Given the description of an element on the screen output the (x, y) to click on. 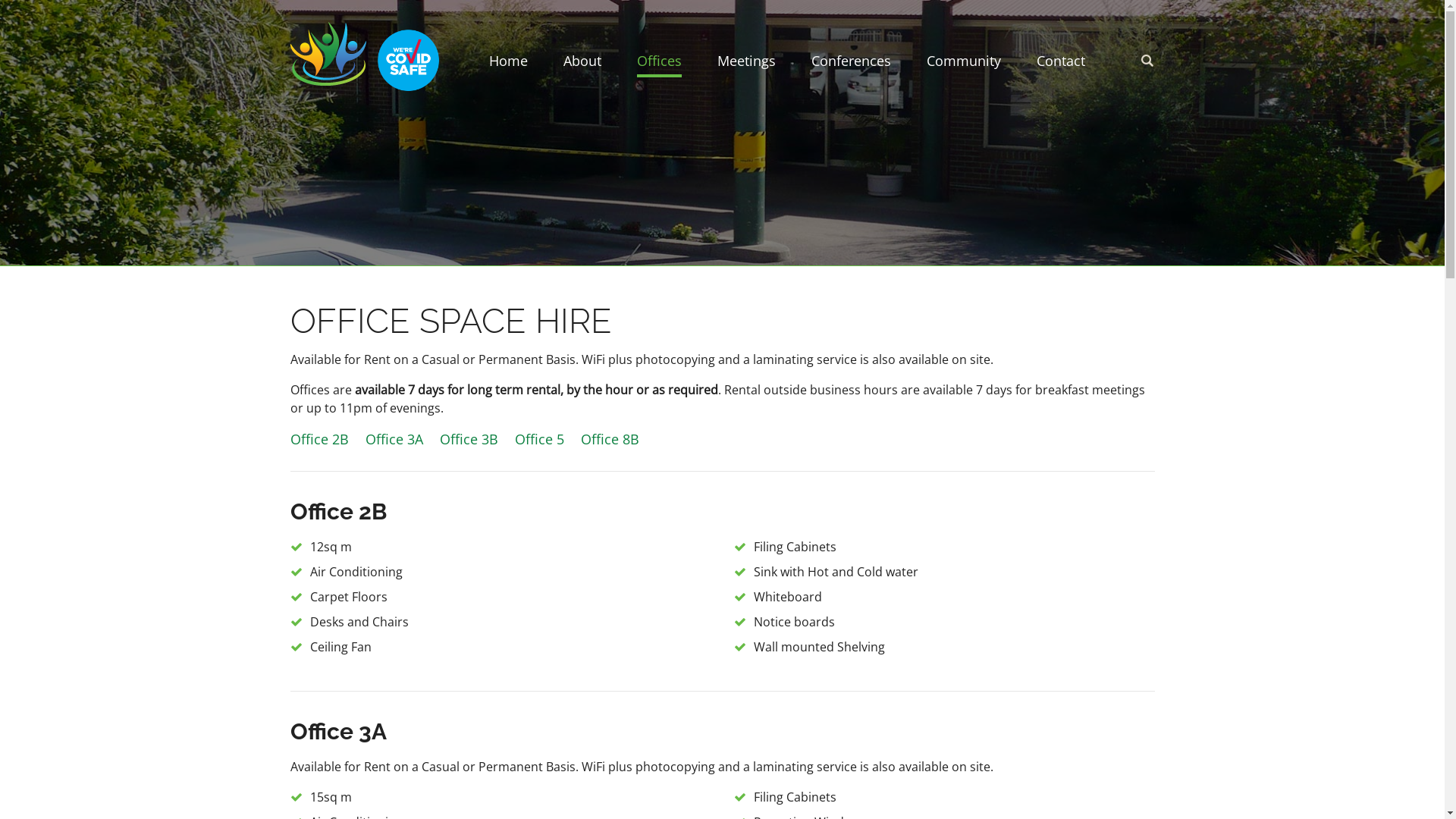
toronto multi purpose center Element type: hover (327, 53)
Conferences Element type: text (851, 64)
Home Element type: text (507, 64)
Office 2B Element type: text (318, 438)
Meetings Element type: text (746, 64)
Offices Element type: text (659, 64)
About Element type: text (581, 64)
Contact Element type: text (1059, 64)
Office 5 Element type: text (538, 438)
Office 8B Element type: text (609, 438)
Office 3A Element type: text (394, 438)
Office 3B Element type: text (468, 438)
Community Element type: text (963, 64)
